Given the description of an element on the screen output the (x, y) to click on. 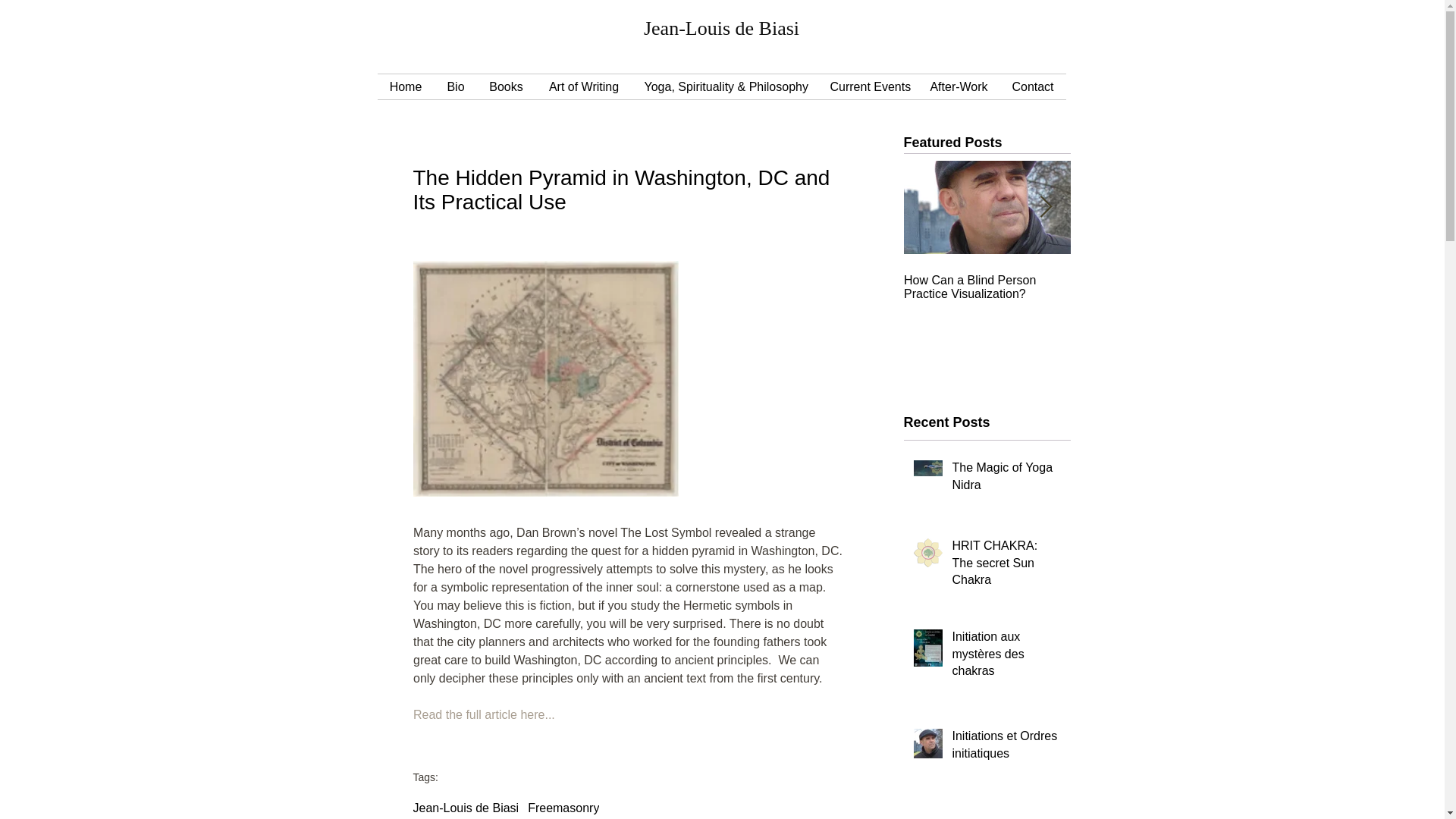
Contact (1031, 86)
Home (405, 86)
Books (506, 86)
Read the full article here... (483, 714)
Initiations et Ordres initiatiques (1006, 748)
Current Events (868, 86)
Jean-Louis de Biasi (721, 28)
The Magic of Yoga Nidra (1006, 479)
Jean-Louis de Biasi (465, 807)
How Can a Blind Person Practice Visualization? (987, 287)
After-Work (957, 86)
Bio (455, 86)
HRIT CHAKRA: The secret Sun Chakra (1006, 565)
The Ritual Use of Colors (1153, 280)
Freemasonry (562, 807)
